Given the description of an element on the screen output the (x, y) to click on. 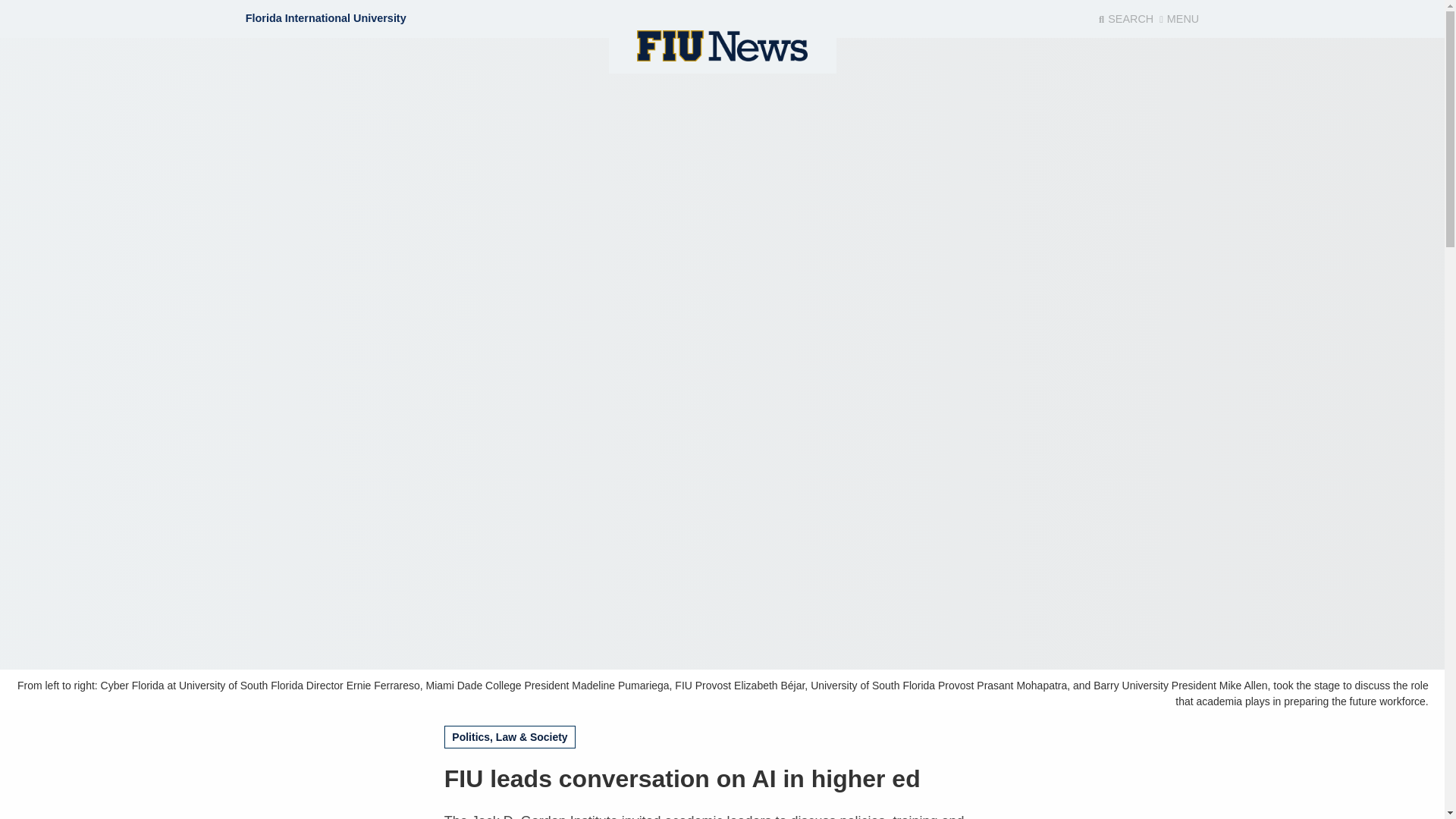
MENU (1178, 19)
SEARCH (1125, 19)
Florida International University (326, 18)
